Given the description of an element on the screen output the (x, y) to click on. 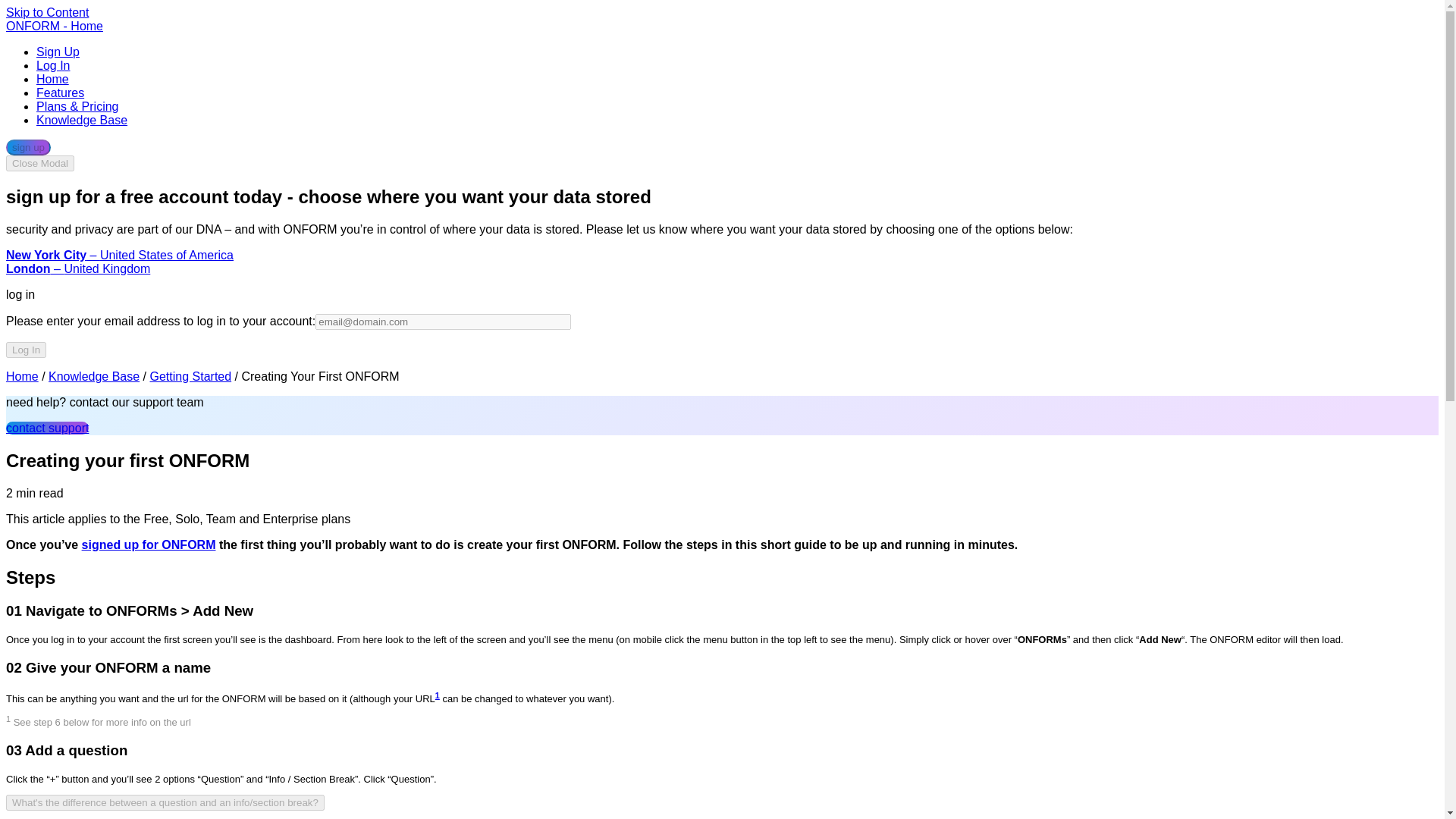
ONFORM - Home (54, 25)
Knowledge Base (82, 119)
Log In (25, 349)
Home (52, 78)
Sign Up (58, 51)
sign up (27, 147)
signed up for ONFORM (148, 544)
Log In (52, 65)
Features (60, 92)
contact support (46, 427)
